Given the description of an element on the screen output the (x, y) to click on. 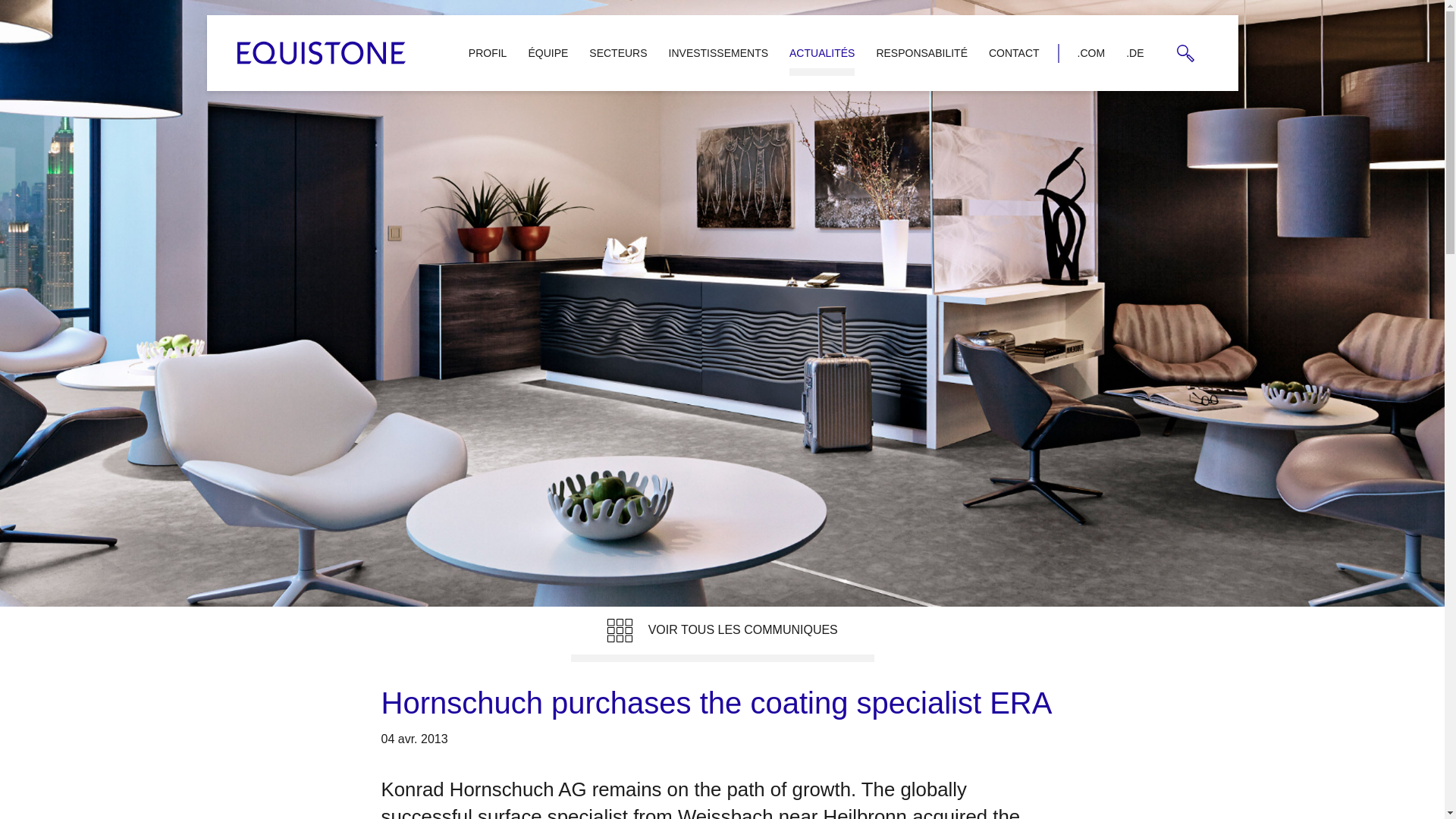
.DE (1134, 52)
SECTEURS (618, 52)
CONTACT (1013, 52)
.COM (1091, 52)
PROFIL (488, 52)
INVESTISSEMENTS (718, 52)
VOIR TOUS LES COMMUNIQUES (721, 633)
